Given the description of an element on the screen output the (x, y) to click on. 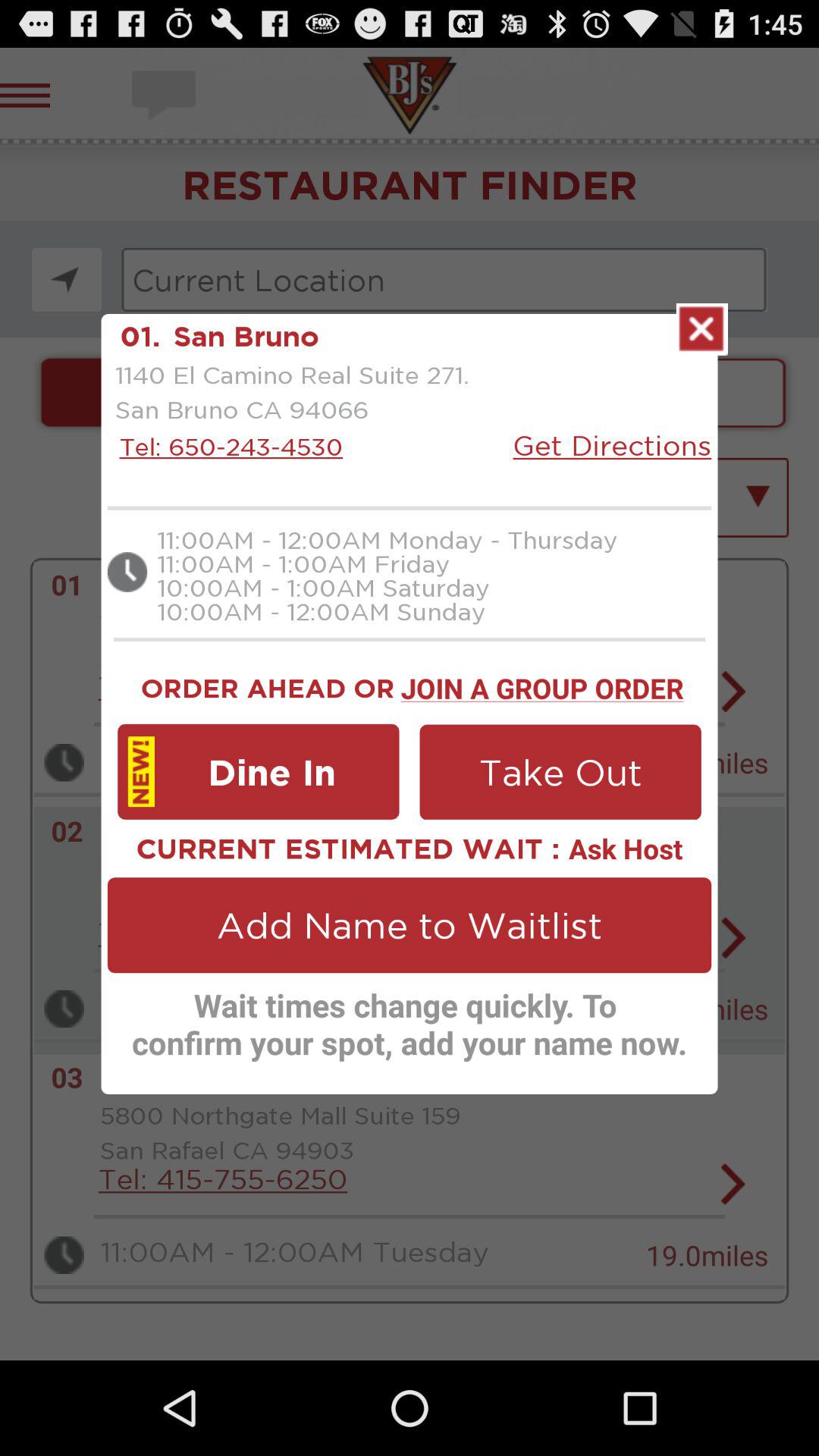
close the page (702, 329)
